Given the description of an element on the screen output the (x, y) to click on. 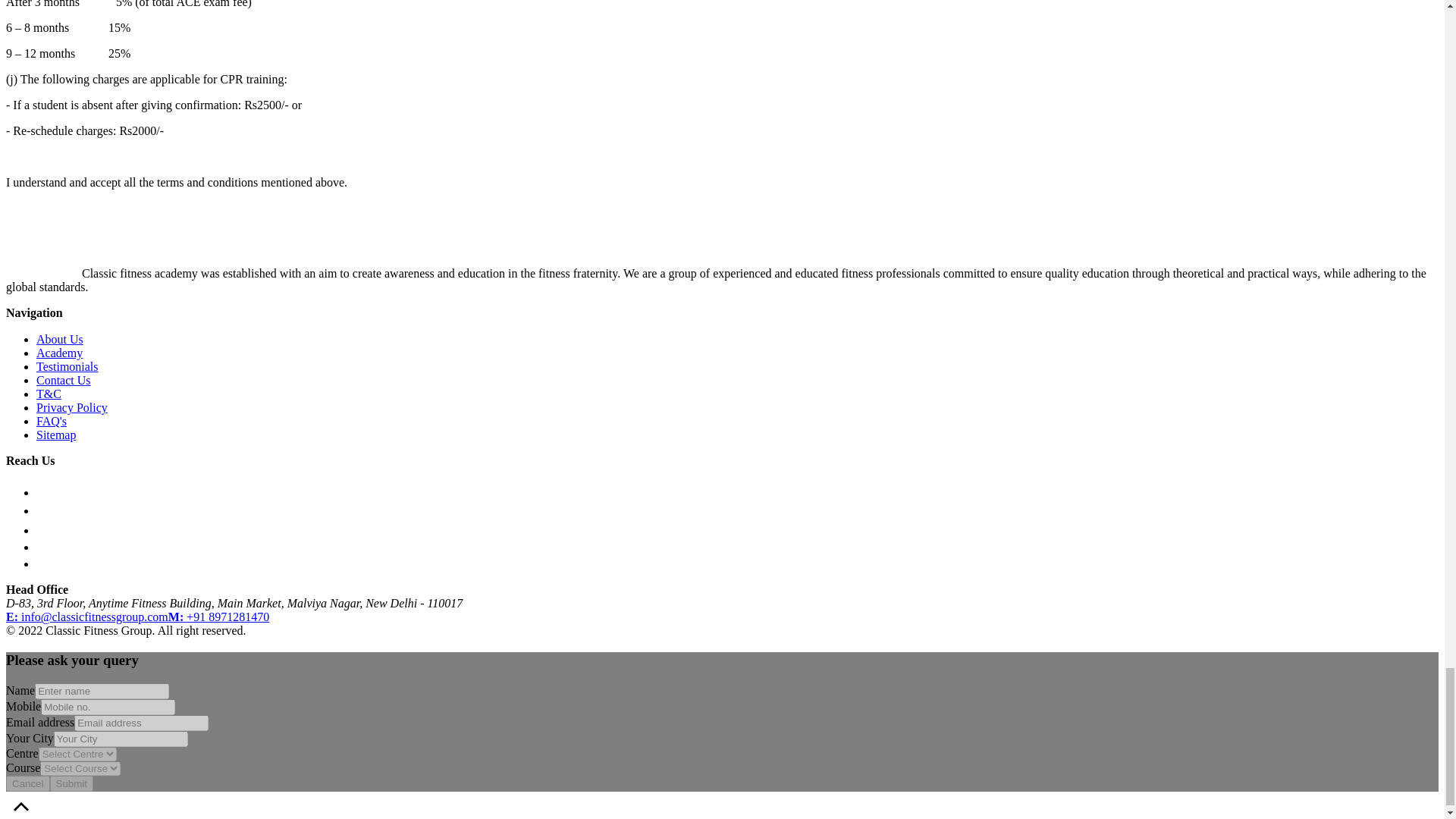
Youtube (47, 492)
Twitter (44, 563)
Instagram (44, 530)
LinkedIn (43, 546)
